Given the description of an element on the screen output the (x, y) to click on. 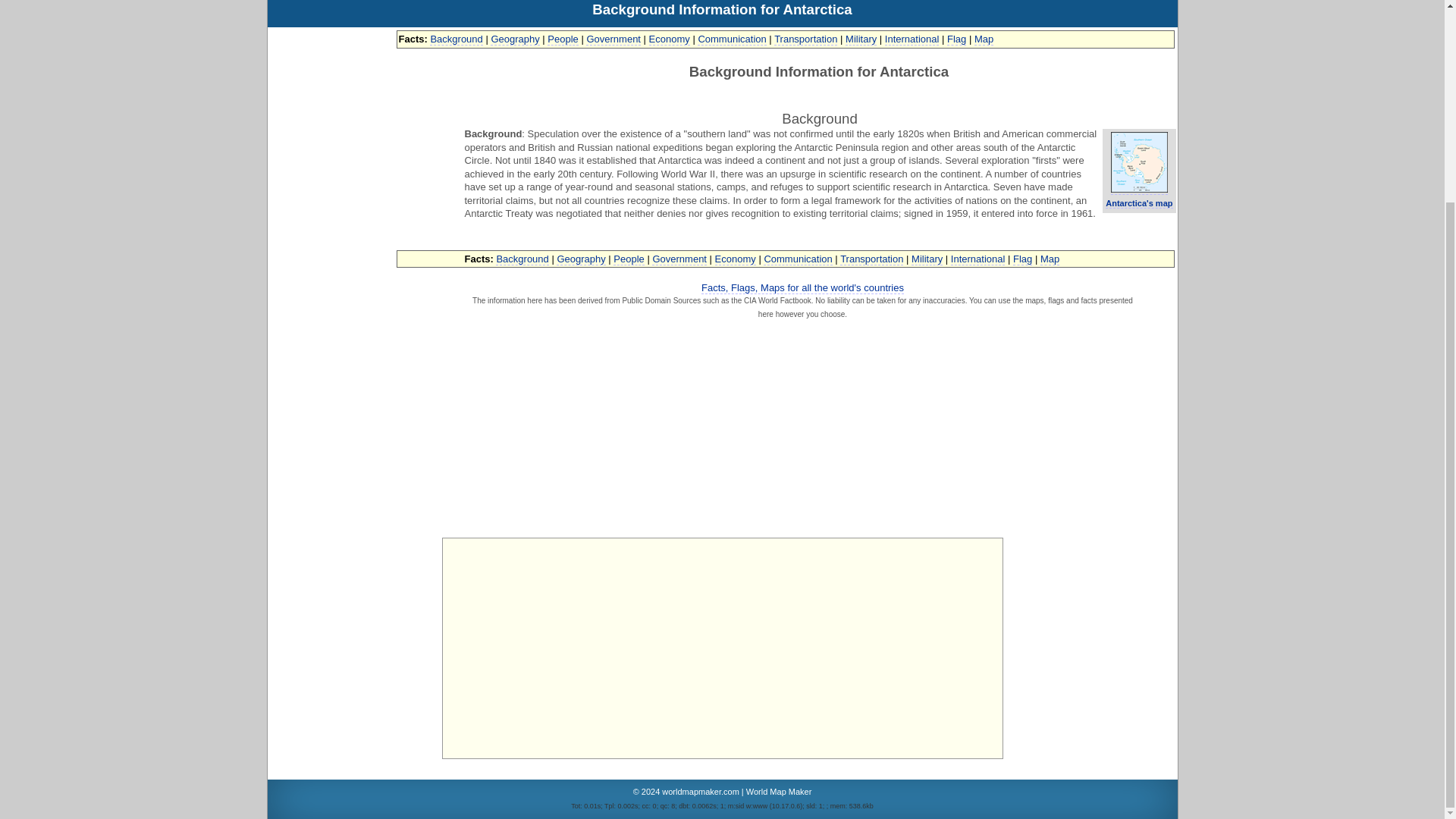
Map (1050, 258)
Geography (514, 39)
Flag (956, 39)
Communication (796, 258)
World Map Maker (778, 791)
International (912, 39)
Antarcticas map (1138, 161)
Advertisement (721, 648)
People (562, 39)
Economy (734, 258)
Geography (580, 258)
Flag (1022, 258)
Government (679, 258)
Background (455, 39)
Communication (731, 39)
